Given the description of an element on the screen output the (x, y) to click on. 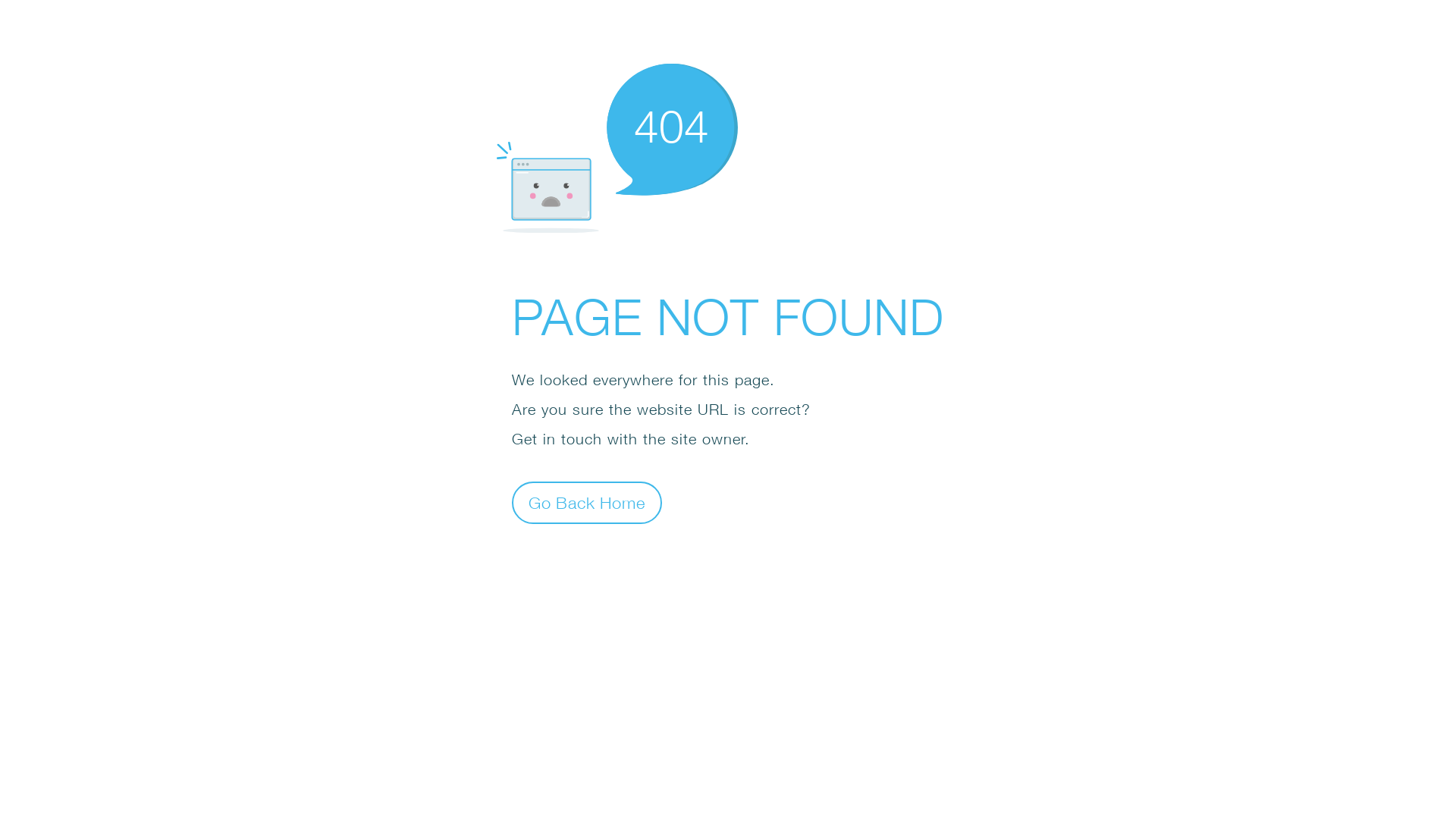
Go Back Home Element type: text (586, 502)
